Given the description of an element on the screen output the (x, y) to click on. 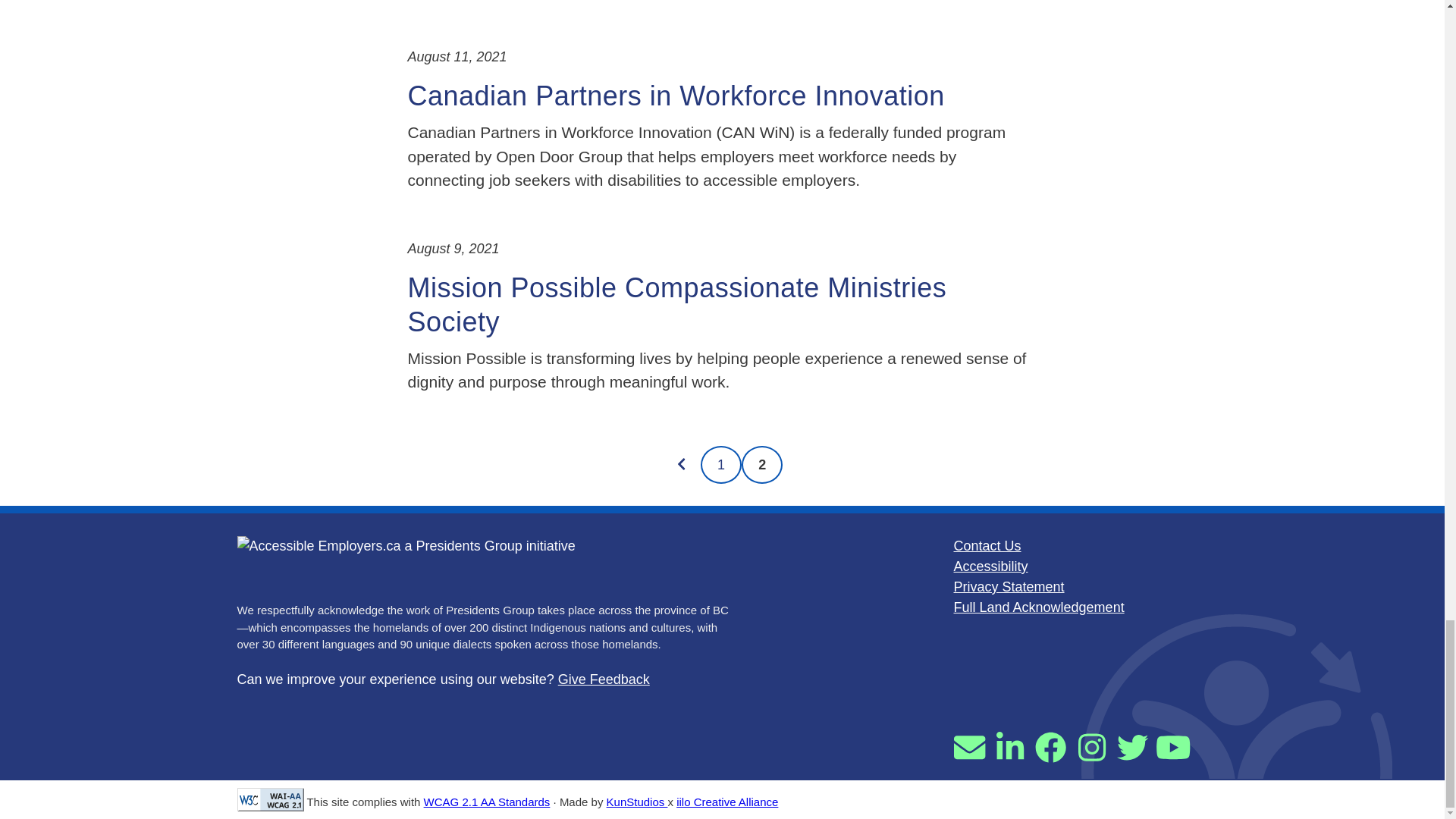
Full Land Acknowledgement (1038, 607)
twitter (1132, 747)
email (969, 747)
Canadian Partners in Workforce Innovation (675, 95)
Privacy Statement (1008, 586)
1 (720, 464)
Mission Possible Compassionate Ministries Society (677, 303)
facebook (1050, 747)
youtube (1173, 747)
facebook (1050, 747)
